Given the description of an element on the screen output the (x, y) to click on. 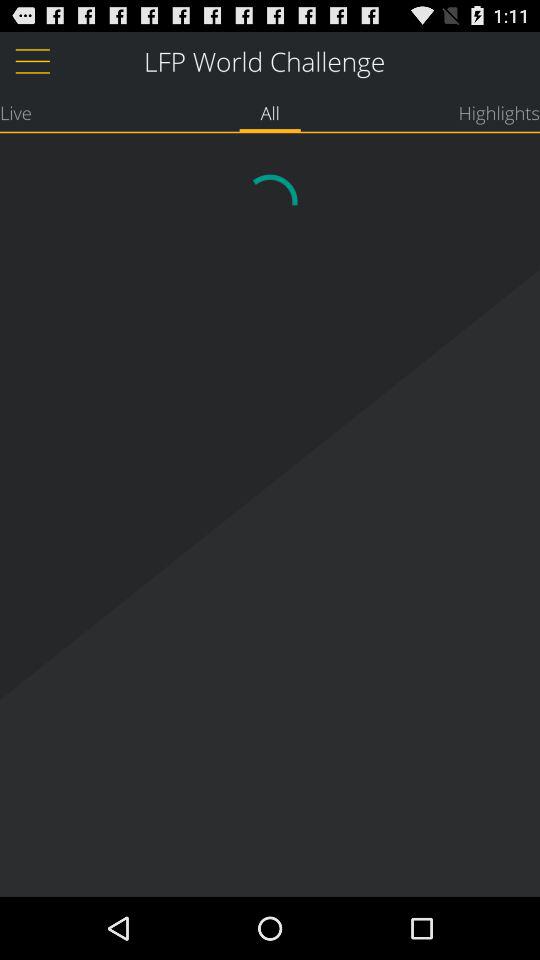
jump until highlights (499, 112)
